Given the description of an element on the screen output the (x, y) to click on. 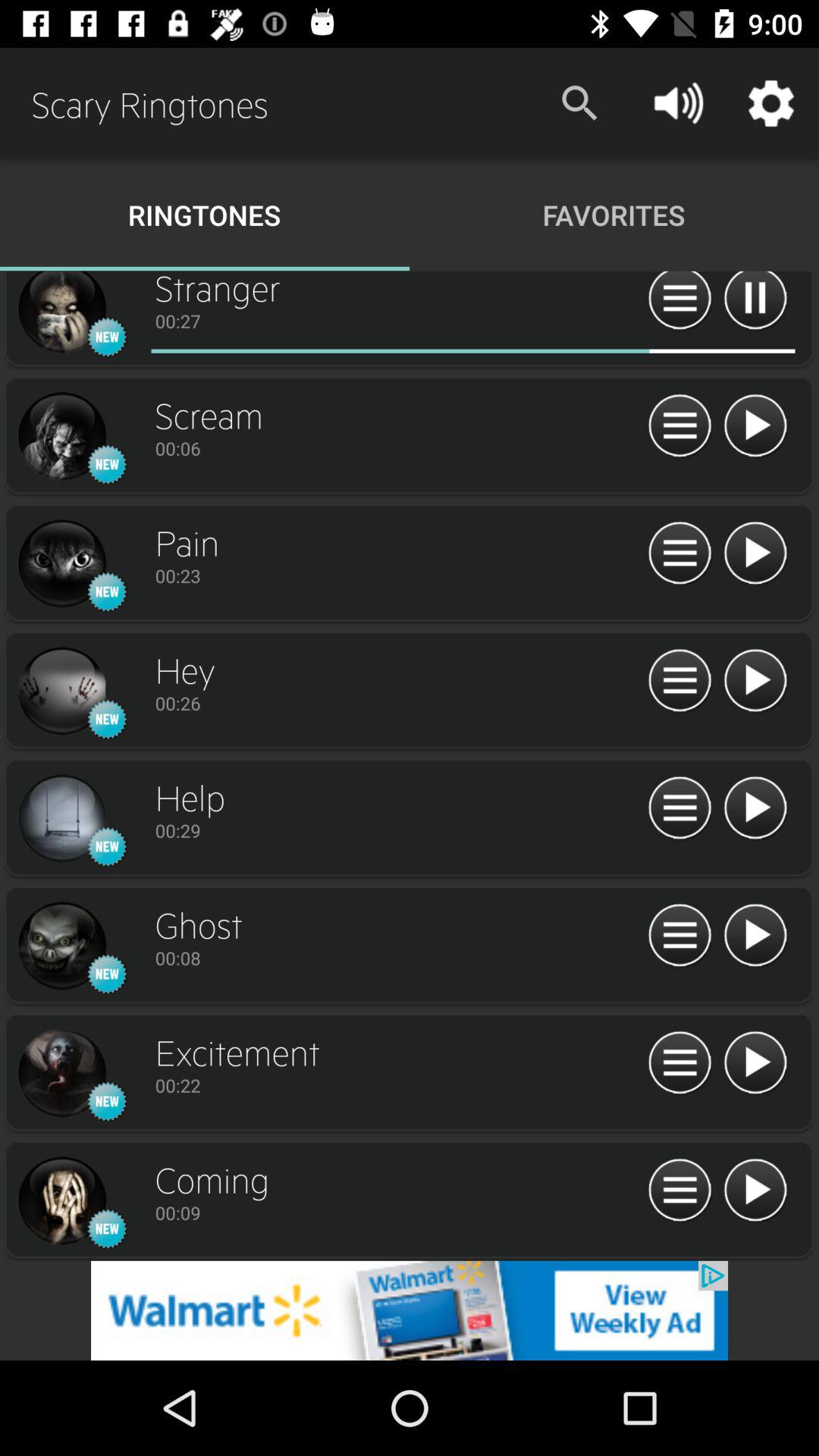
play ringtone (755, 426)
